Given the description of an element on the screen output the (x, y) to click on. 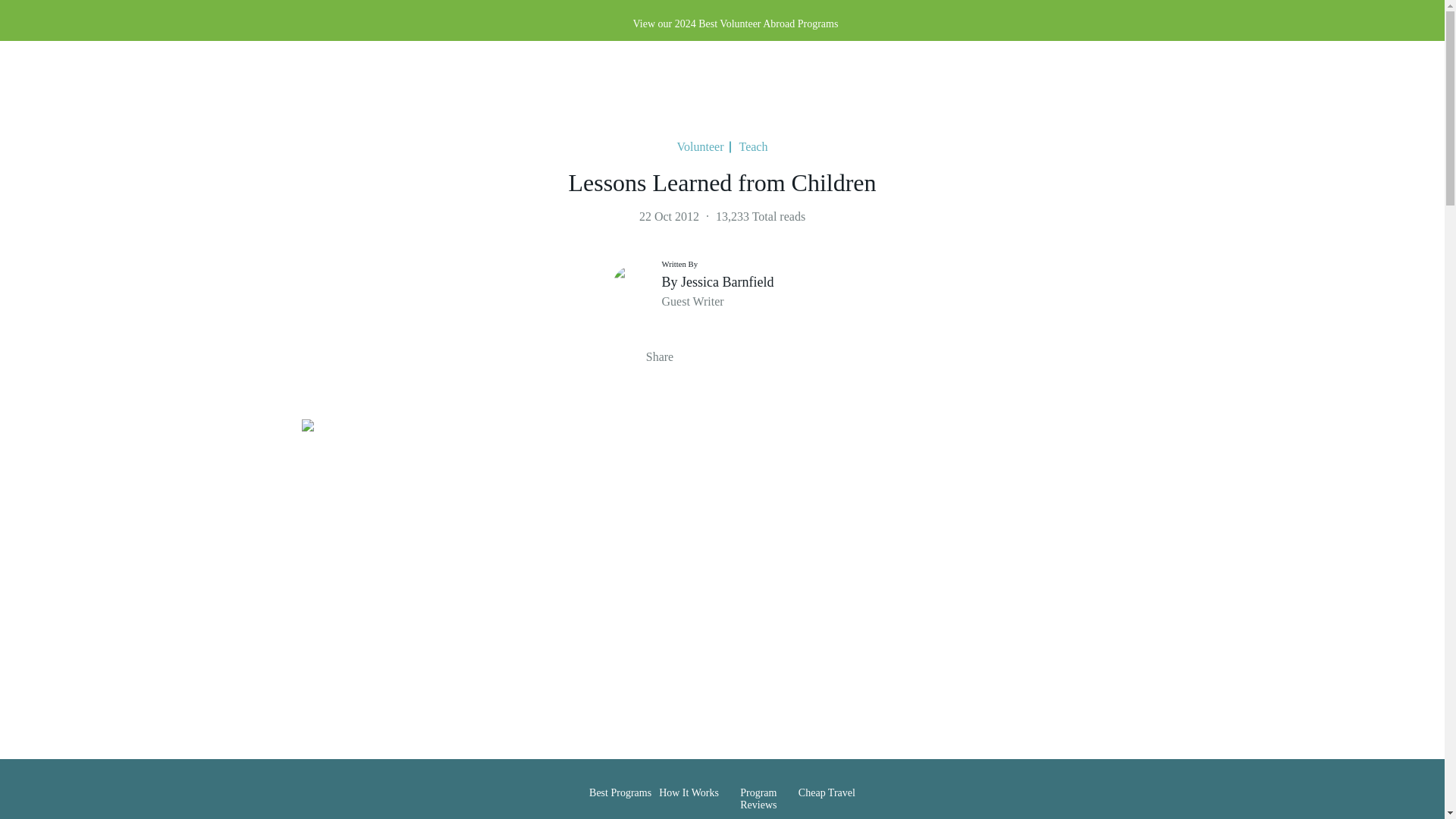
View our 2024 Best Volunteer Abroad Programs (748, 24)
logo (73, 91)
Best Programs (619, 779)
Program Reviews (758, 785)
Cheap Travel (826, 779)
How It Works (689, 779)
